Given the description of an element on the screen output the (x, y) to click on. 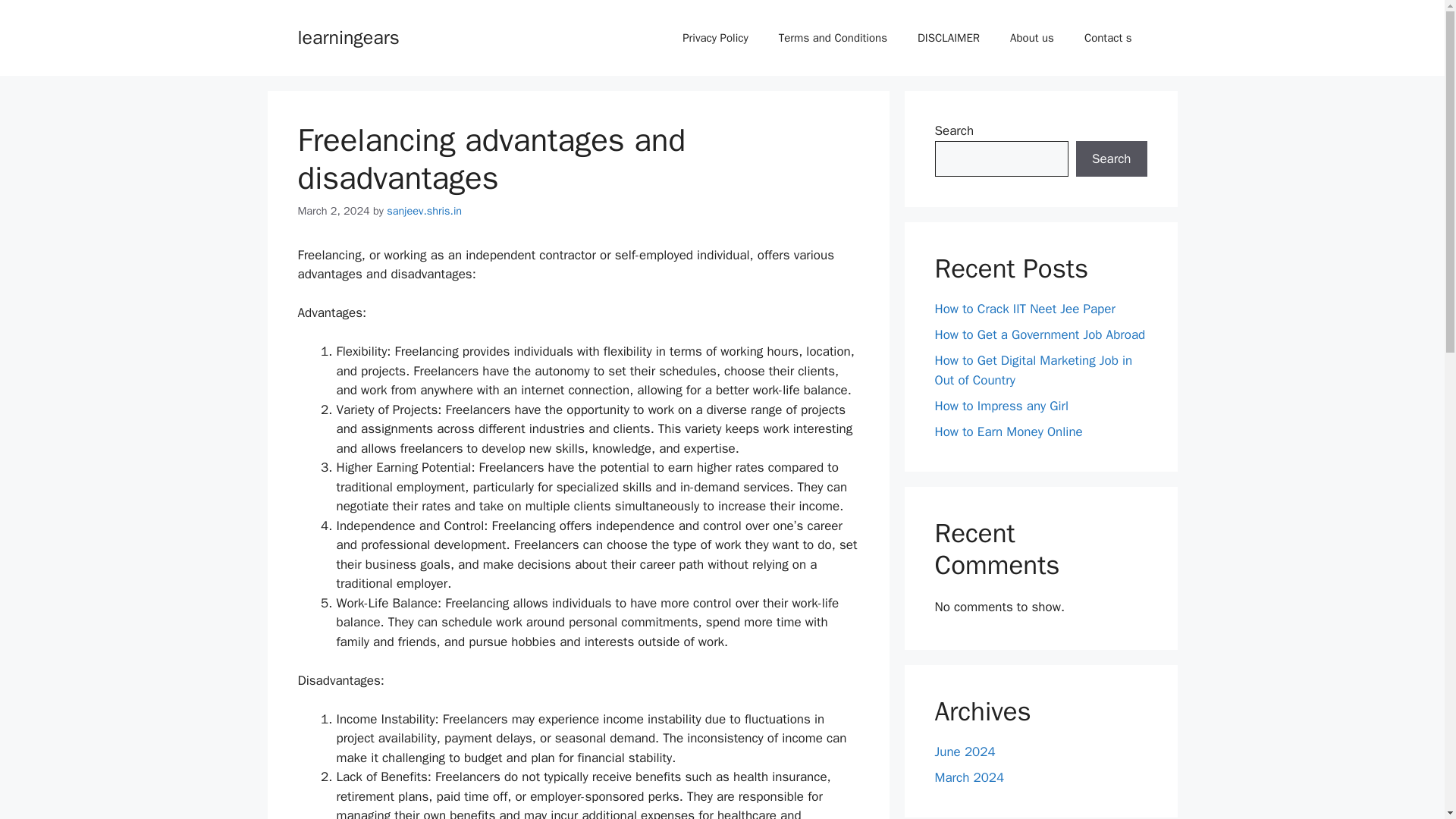
How to Impress any Girl (1001, 405)
Search (1111, 158)
learningears (347, 37)
March 2024 (969, 777)
View all posts by sanjeev.shris.in (424, 210)
How to Crack IIT Neet Jee Paper (1024, 308)
June 2024 (964, 751)
About us (1031, 37)
Privacy Policy (714, 37)
sanjeev.shris.in (424, 210)
